Given the description of an element on the screen output the (x, y) to click on. 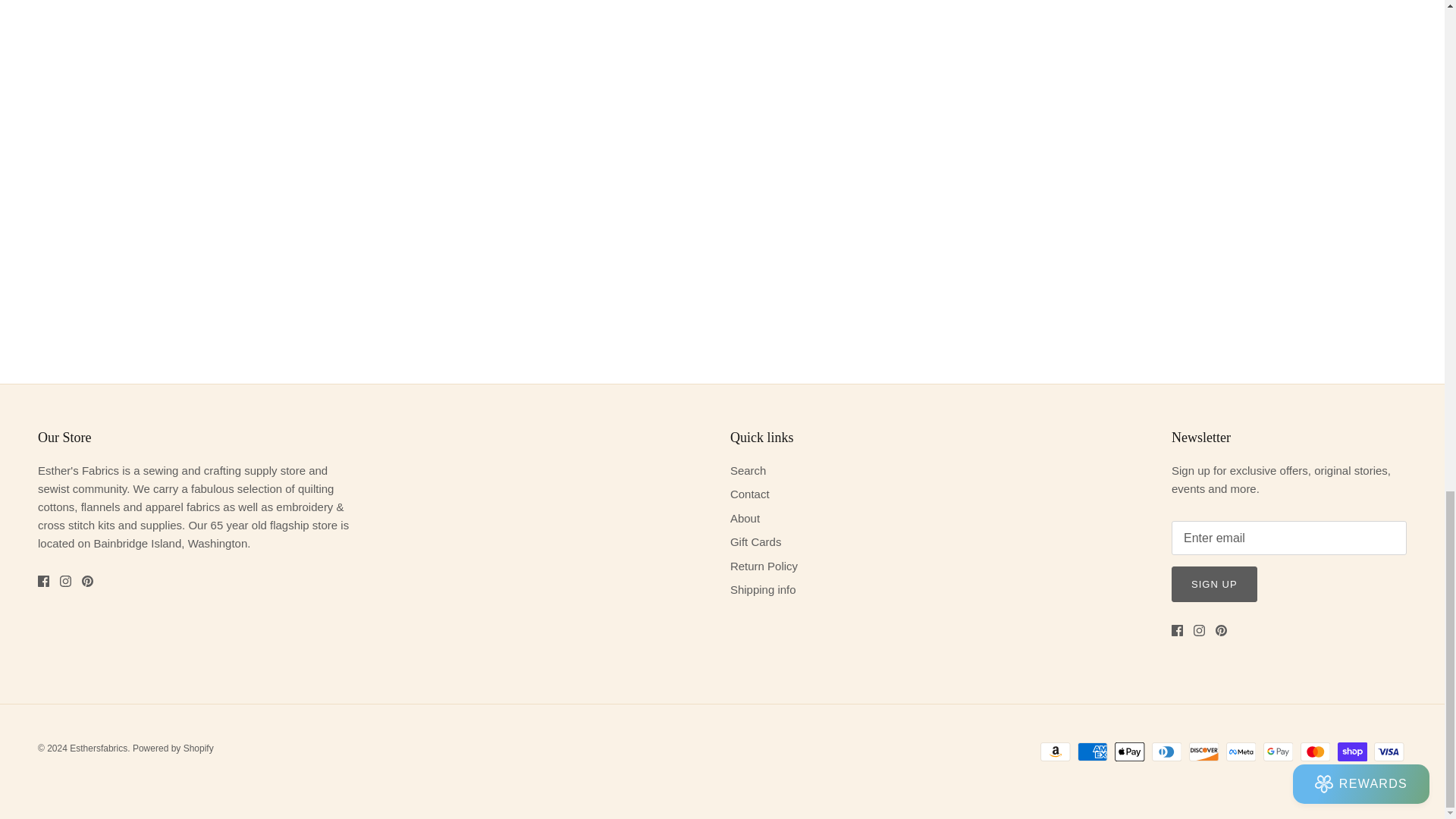
Diners Club (1166, 751)
Facebook (1177, 630)
Apple Pay (1129, 751)
Amazon (1055, 751)
Facebook (43, 581)
Pinterest (87, 581)
Pinterest (1221, 630)
Instagram (1199, 630)
Meta Pay (1240, 751)
Instagram (65, 581)
